Given the description of an element on the screen output the (x, y) to click on. 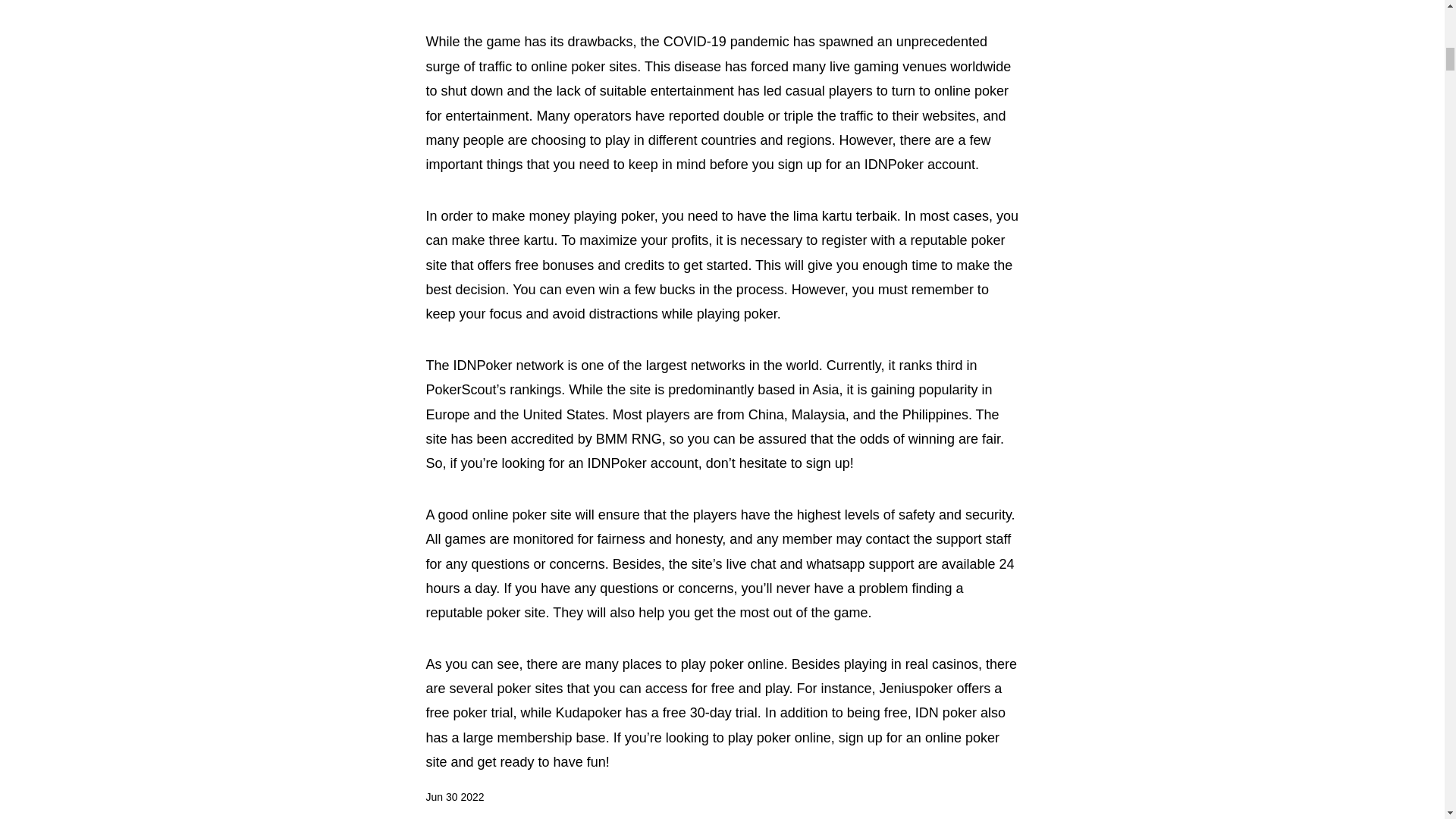
Jun 30 2022 (455, 797)
